Given the description of an element on the screen output the (x, y) to click on. 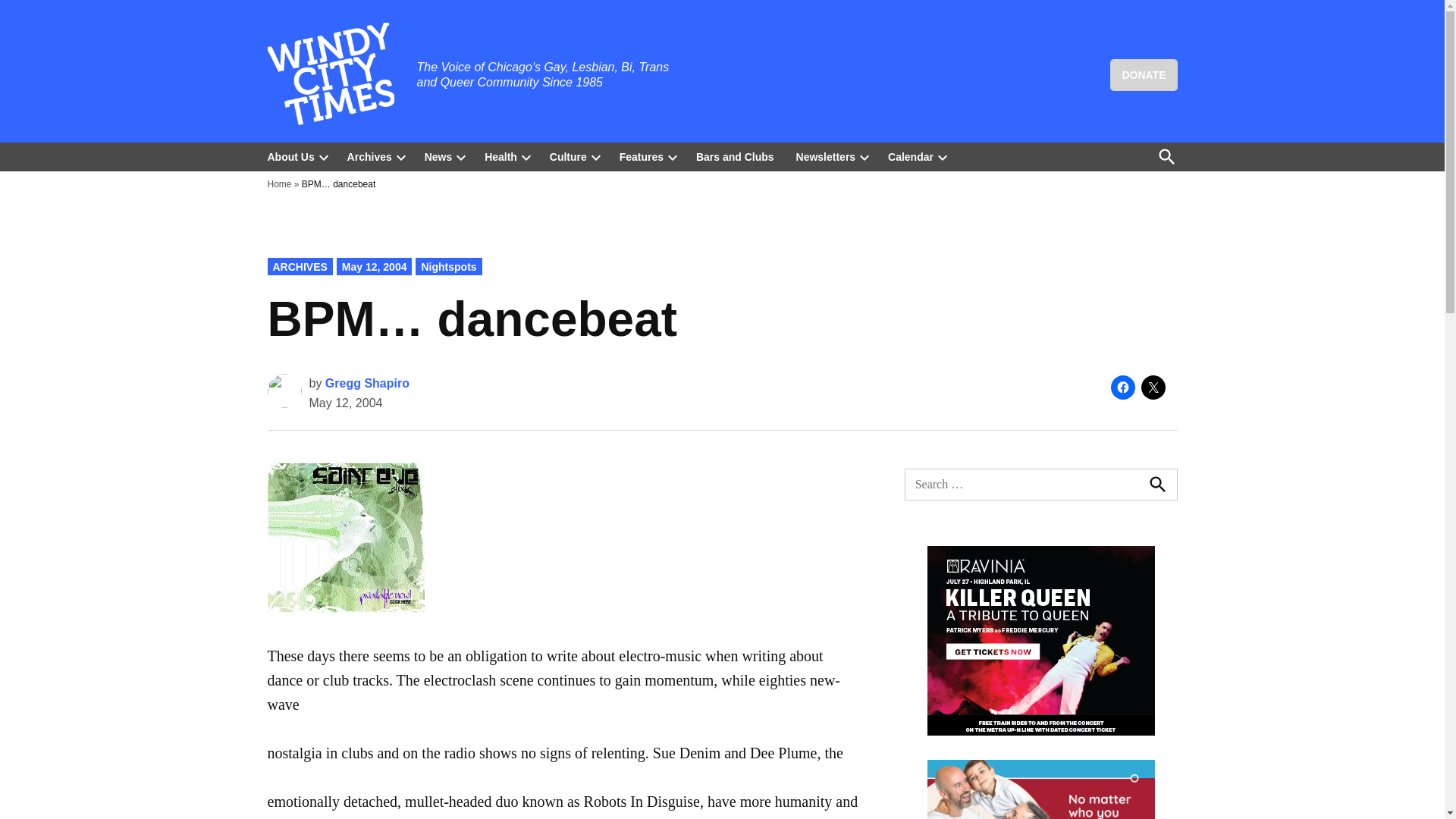
Click to share on X (1152, 387)
Click to share on Facebook (1121, 387)
